Given the description of an element on the screen output the (x, y) to click on. 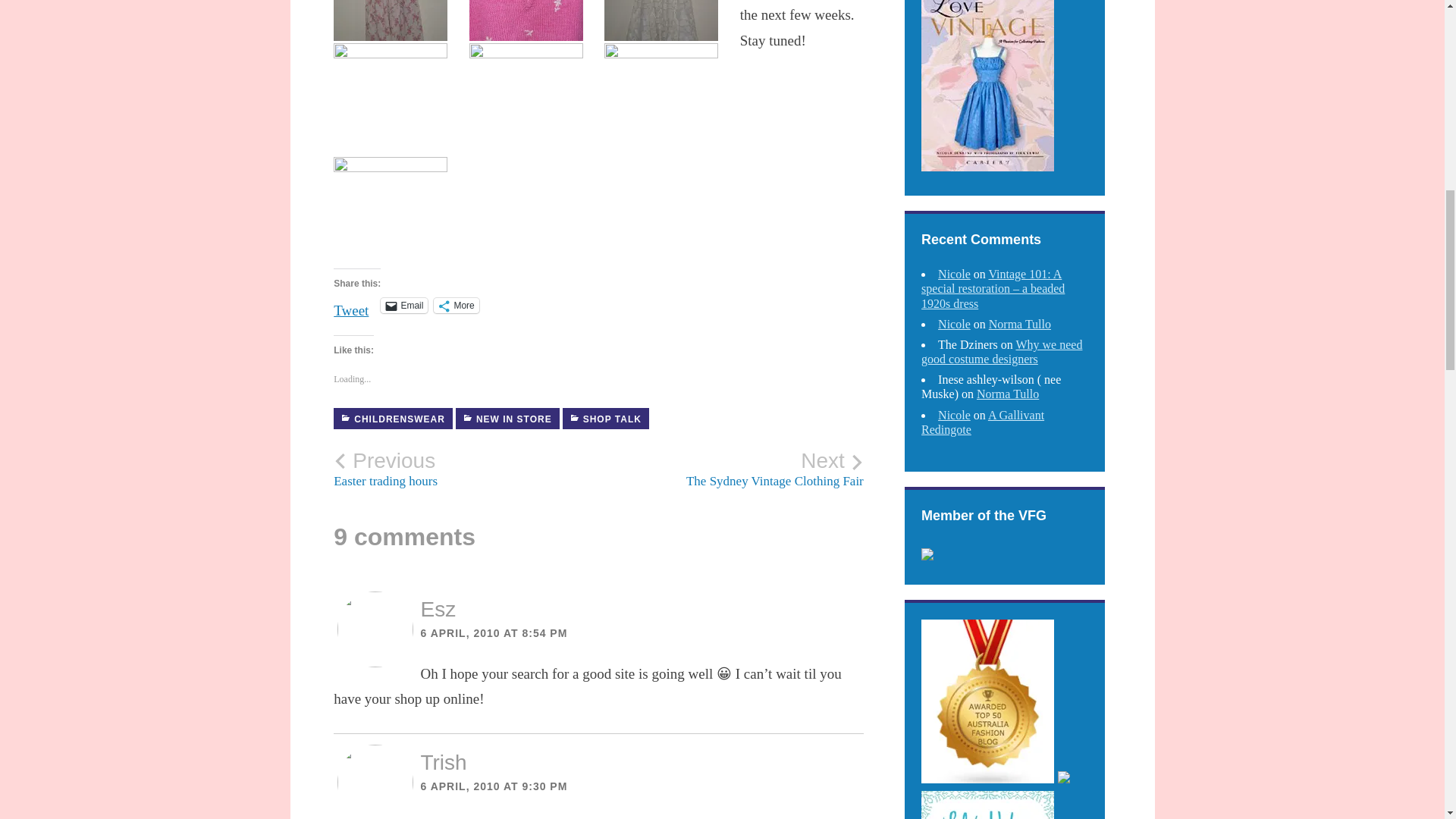
1950s nylon lace petticoat (660, 20)
CHILDRENSWEAR (392, 418)
Tweet (350, 305)
NEW IN STORE (507, 418)
1950s hand smocked cotton print dress (389, 20)
SHOP TALK (605, 418)
1950s green print cotton skirt (389, 211)
More (456, 305)
Click to email a link to a friend (404, 305)
1950s cotton print top (525, 97)
1950s tartan pinafore (389, 97)
Email (404, 305)
1950s pink wool skirt dress (660, 97)
